Given the description of an element on the screen output the (x, y) to click on. 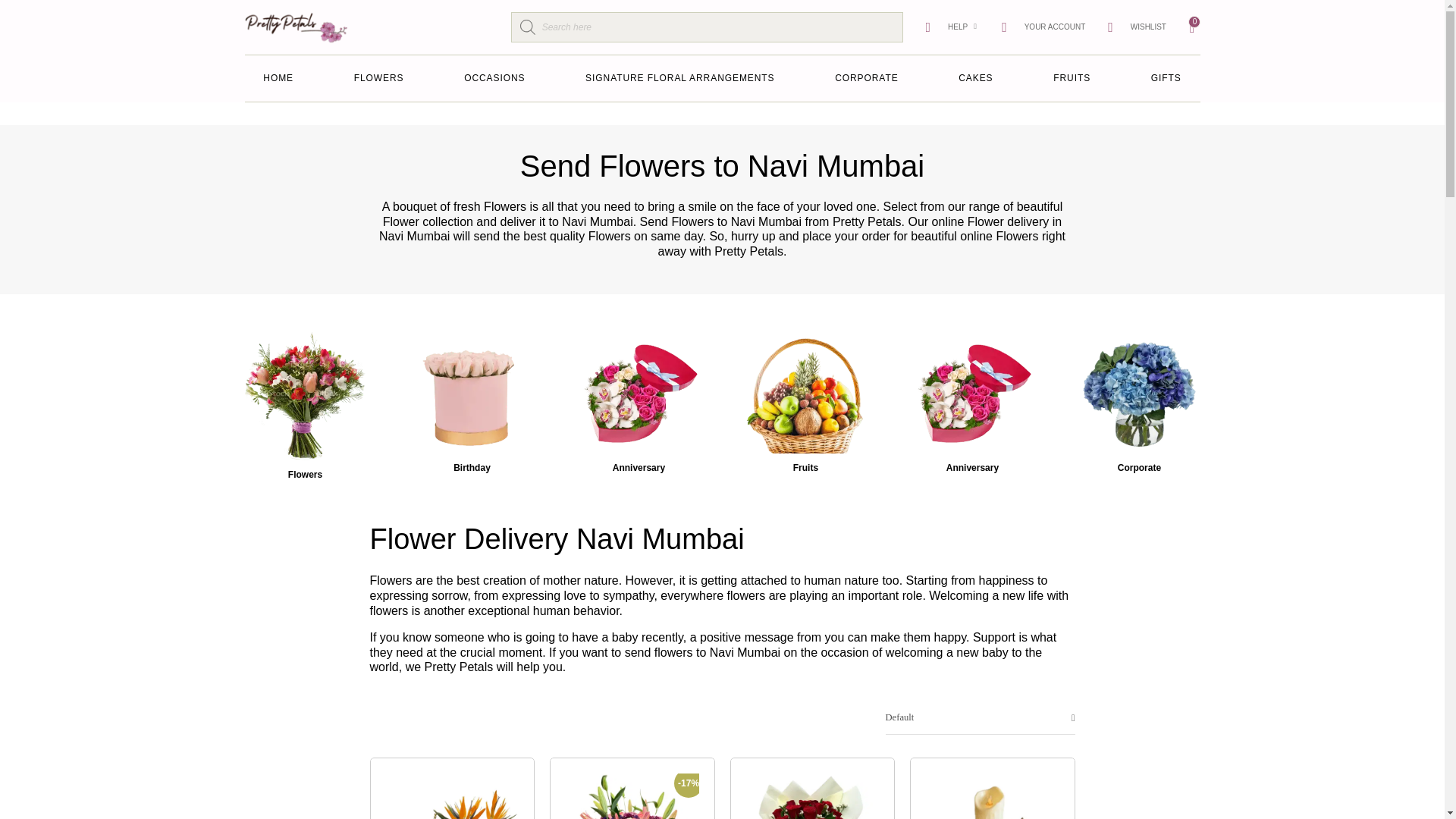
WISHLIST (1137, 26)
CORPORATE (866, 78)
FLOWERS (378, 78)
CAKES (975, 78)
OCCASIONS (494, 78)
HELP (947, 26)
HOME (277, 78)
FRUITS (1071, 78)
YOUR ACCOUNT (1042, 26)
